Given the description of an element on the screen output the (x, y) to click on. 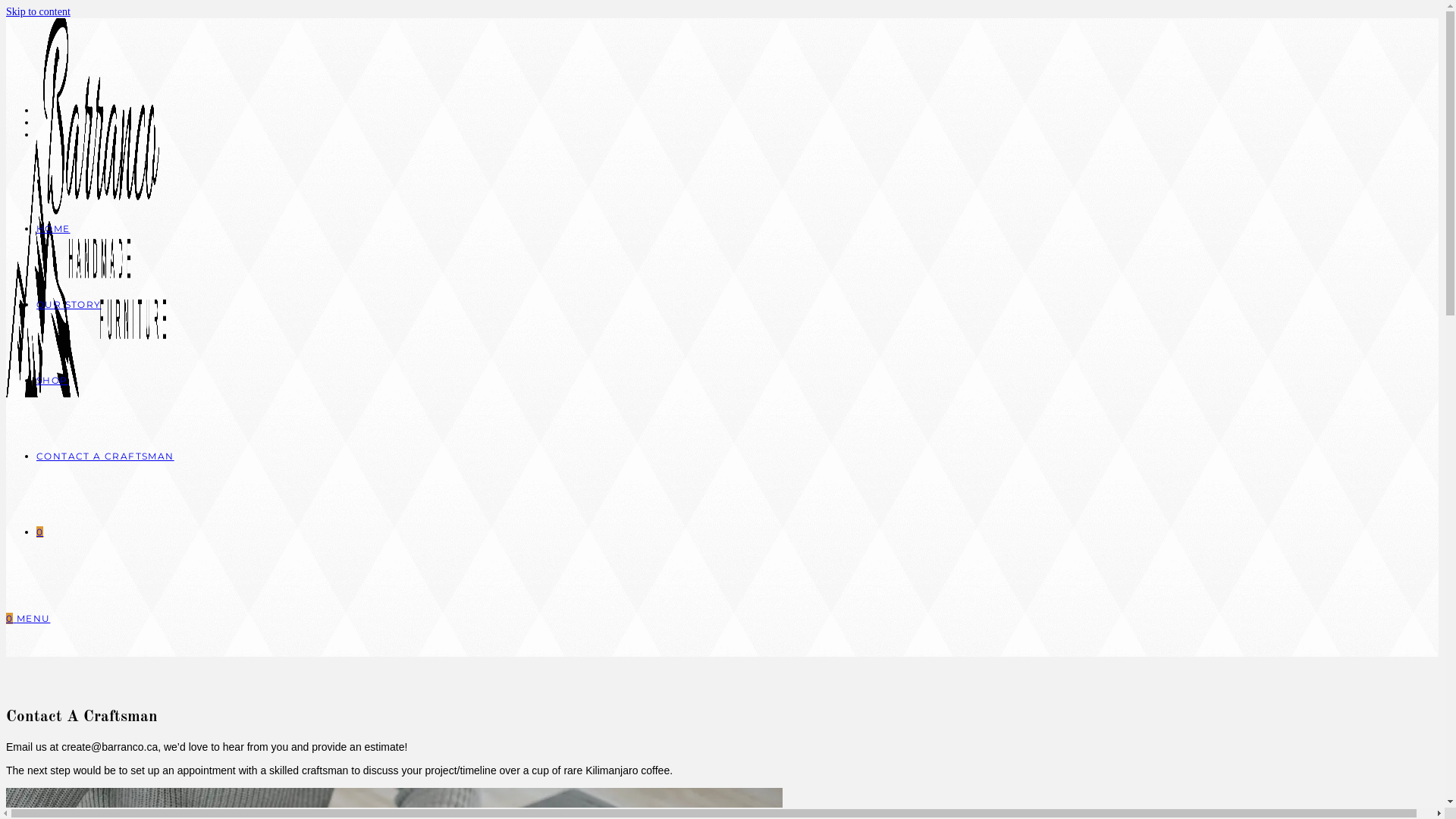
0 Element type: text (11, 618)
MENU Element type: text (33, 618)
OUR STORY Element type: text (68, 304)
HOME Element type: text (53, 228)
Skip to content Element type: text (38, 11)
SHOP Element type: text (52, 379)
0 Element type: text (39, 531)
CONTACT A CRAFTSMAN Element type: text (105, 455)
